Given the description of an element on the screen output the (x, y) to click on. 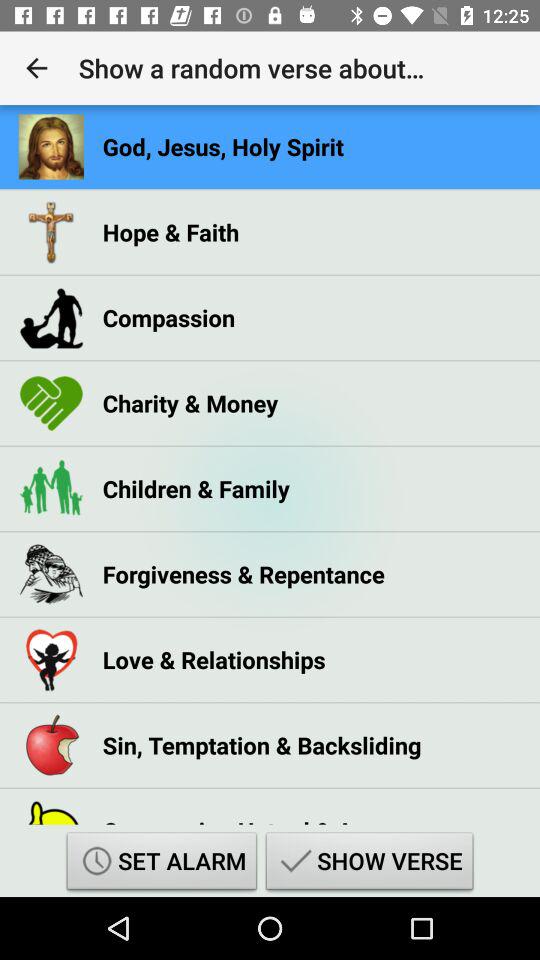
turn off children & family item (196, 488)
